Given the description of an element on the screen output the (x, y) to click on. 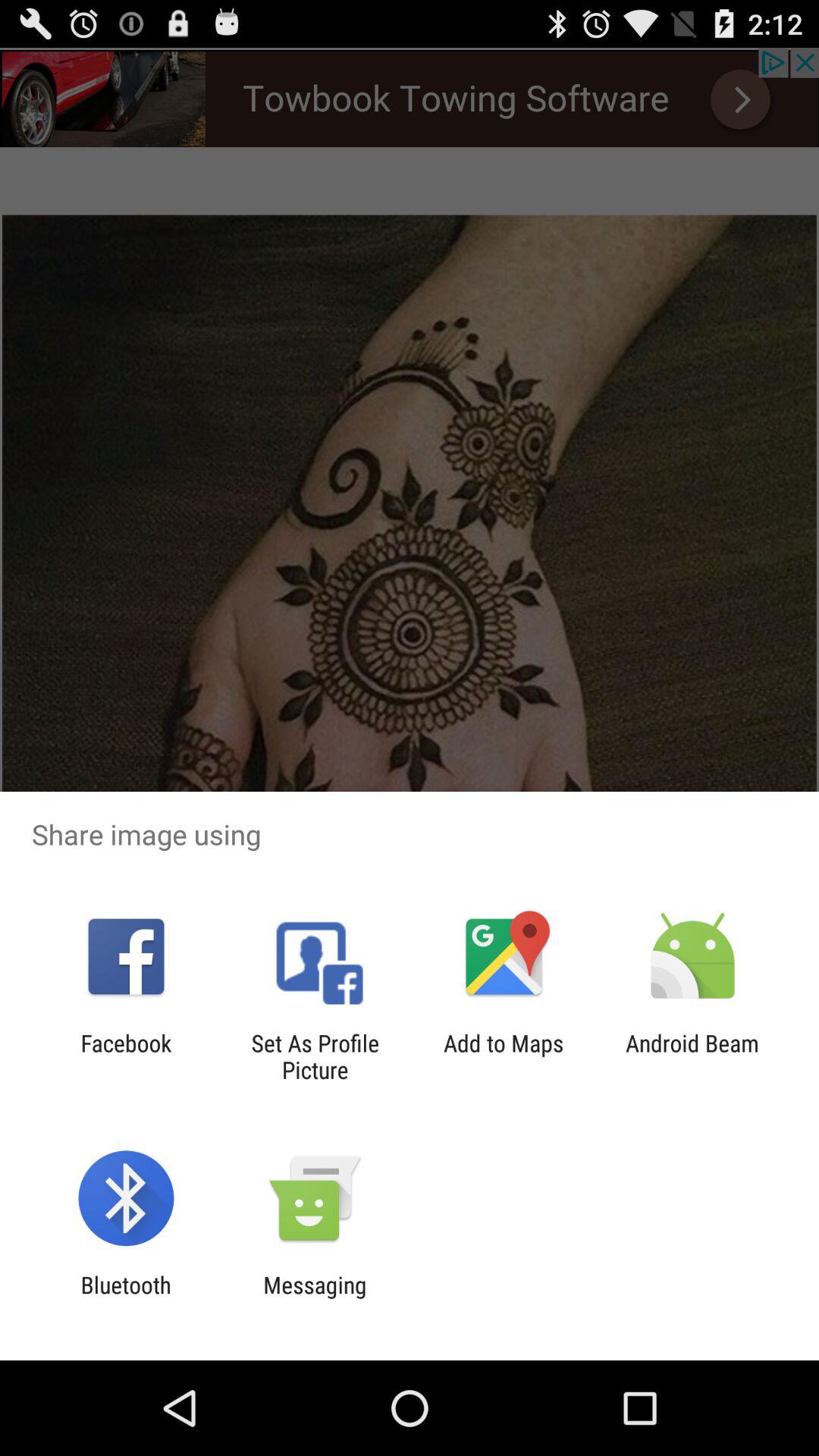
turn on icon to the left of the messaging (125, 1298)
